Given the description of an element on the screen output the (x, y) to click on. 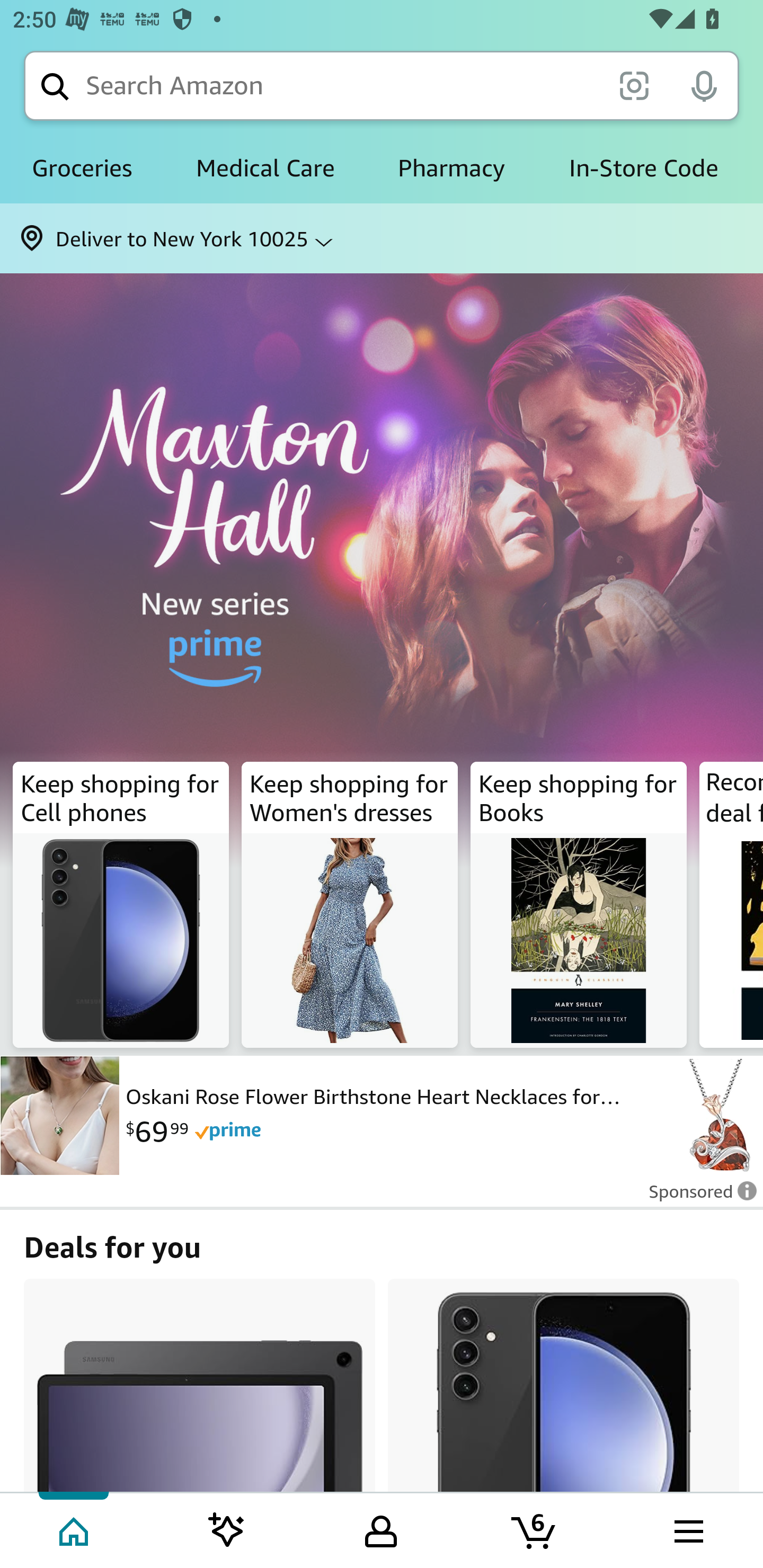
scan it (633, 85)
Groceries (82, 168)
Medical Care (265, 168)
Pharmacy (451, 168)
In-Store Code (643, 168)
Deliver to New York 10025 ⌵ (381, 237)
Keep shopping for Books Keep shopping for Books (578, 904)
Leave feedback on Sponsored ad Sponsored  (696, 1196)
Home Tab 1 of 5 (75, 1529)
Inspire feed Tab 2 of 5 (227, 1529)
Your Amazon.com Tab 3 of 5 (380, 1529)
Cart 6 items Tab 4 of 5 6 (534, 1529)
Browse menu Tab 5 of 5 (687, 1529)
